Given the description of an element on the screen output the (x, y) to click on. 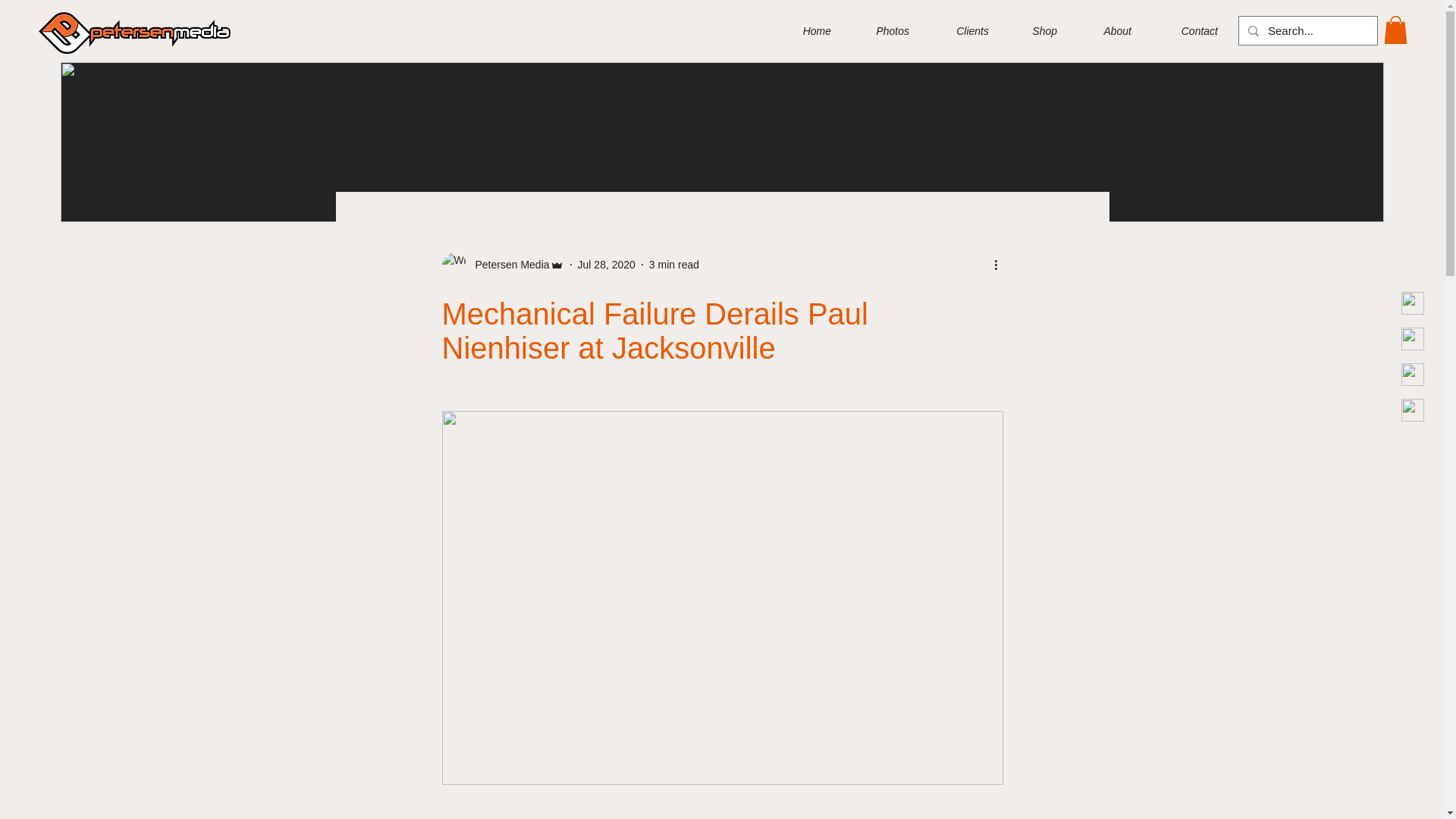
About (1105, 30)
Petersen Media (502, 264)
3 min read (673, 264)
Jul 28, 2020 (606, 264)
Contact (1185, 30)
Clients (960, 30)
Home (805, 30)
Shop (1034, 30)
Petersen Media  (506, 264)
Photos (881, 30)
